Given the description of an element on the screen output the (x, y) to click on. 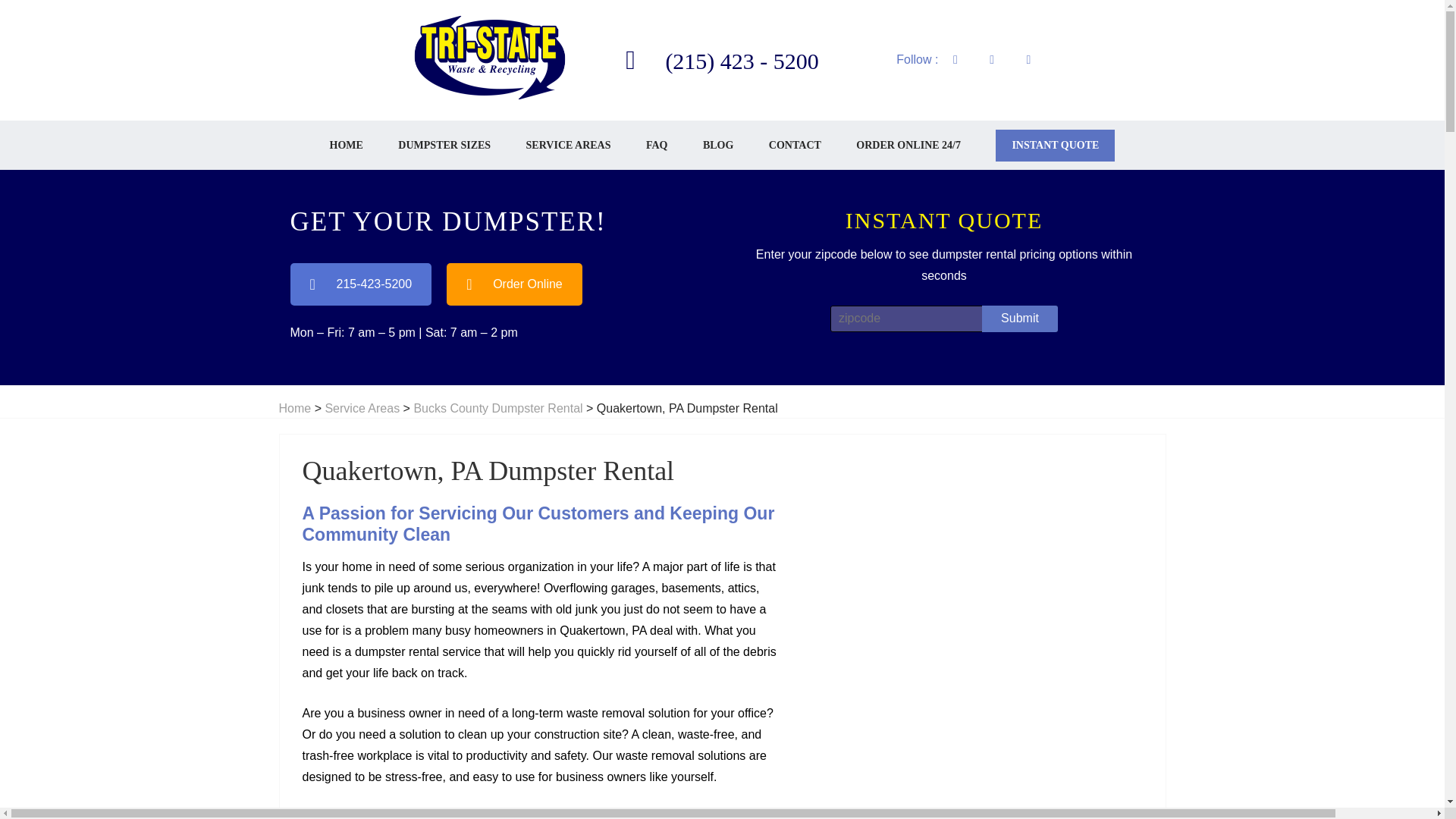
Go to Bucks County Dumpster Rental. (497, 408)
Instant Quote (1055, 145)
INSTANT QUOTE (1055, 145)
Bucks County Dumpster Rental (497, 408)
Logo (489, 57)
Service Areas (569, 144)
FAQ (657, 144)
Order Online (514, 283)
SERVICE AREAS (569, 144)
Submit (1019, 318)
Home (346, 144)
Service Areas (361, 408)
FAQ (657, 144)
Contact (358, 816)
Blog (718, 144)
